Given the description of an element on the screen output the (x, y) to click on. 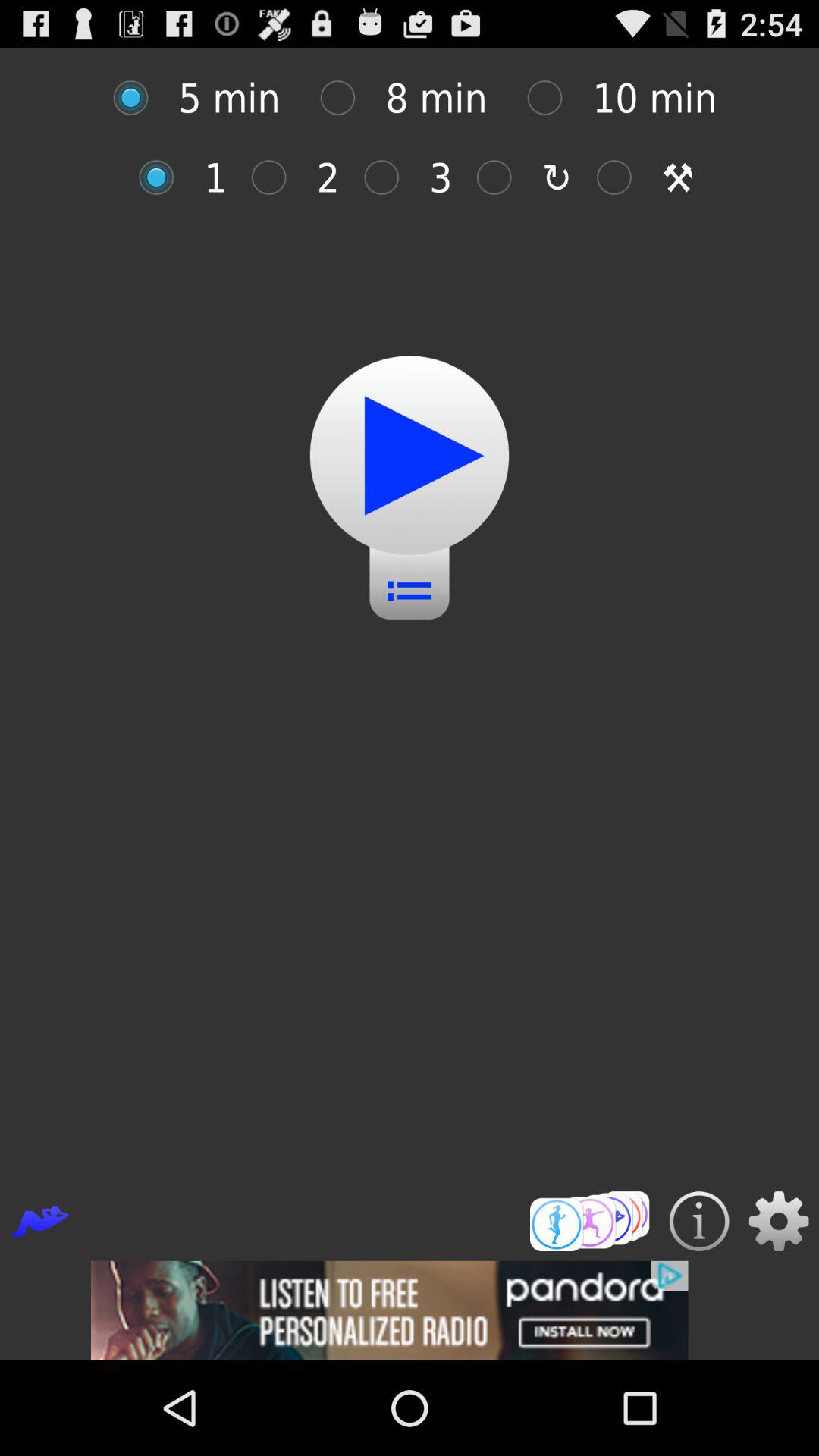
select 2 (276, 177)
